Given the description of an element on the screen output the (x, y) to click on. 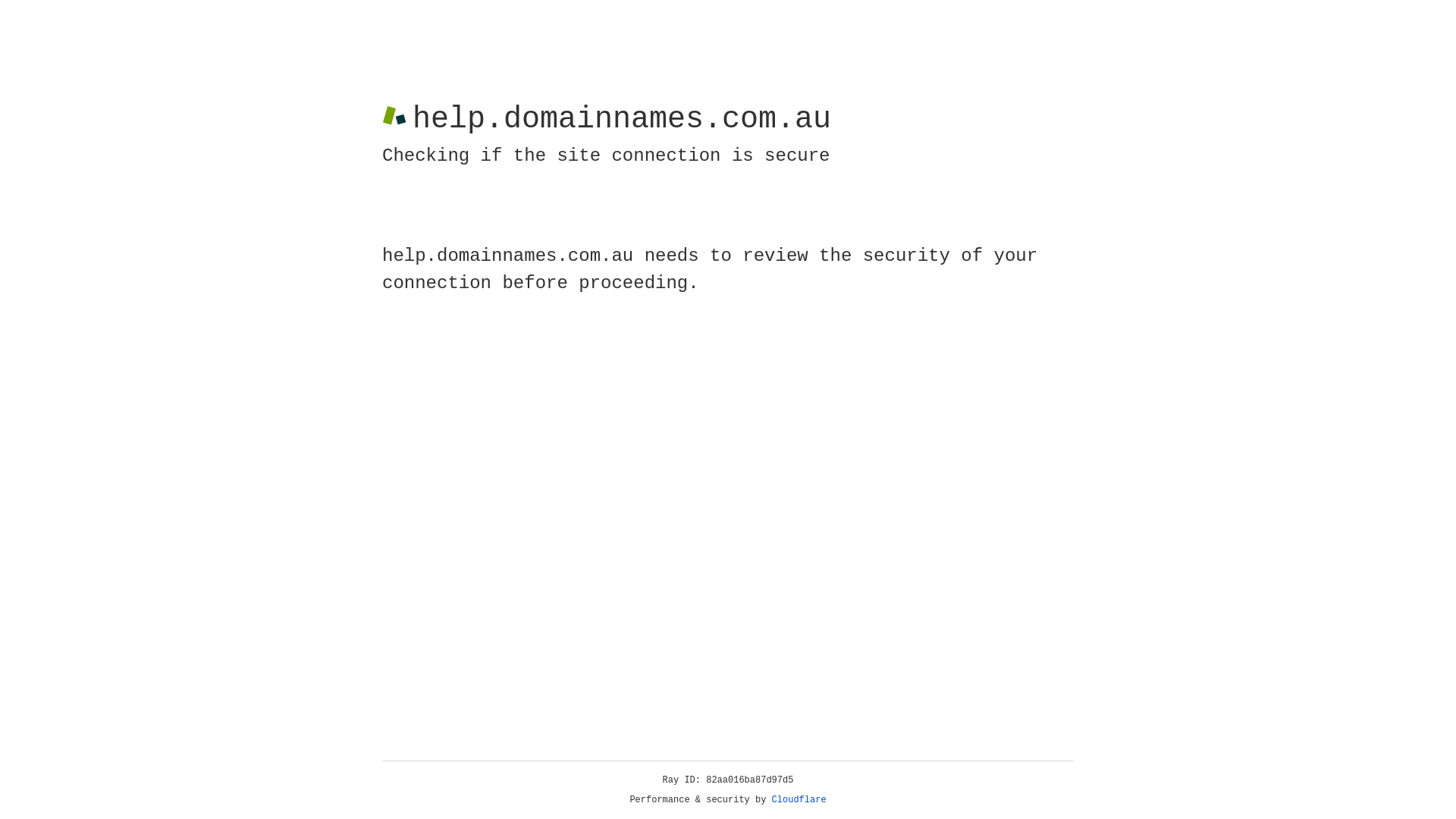
Cloudflare Element type: text (798, 799)
